Given the description of an element on the screen output the (x, y) to click on. 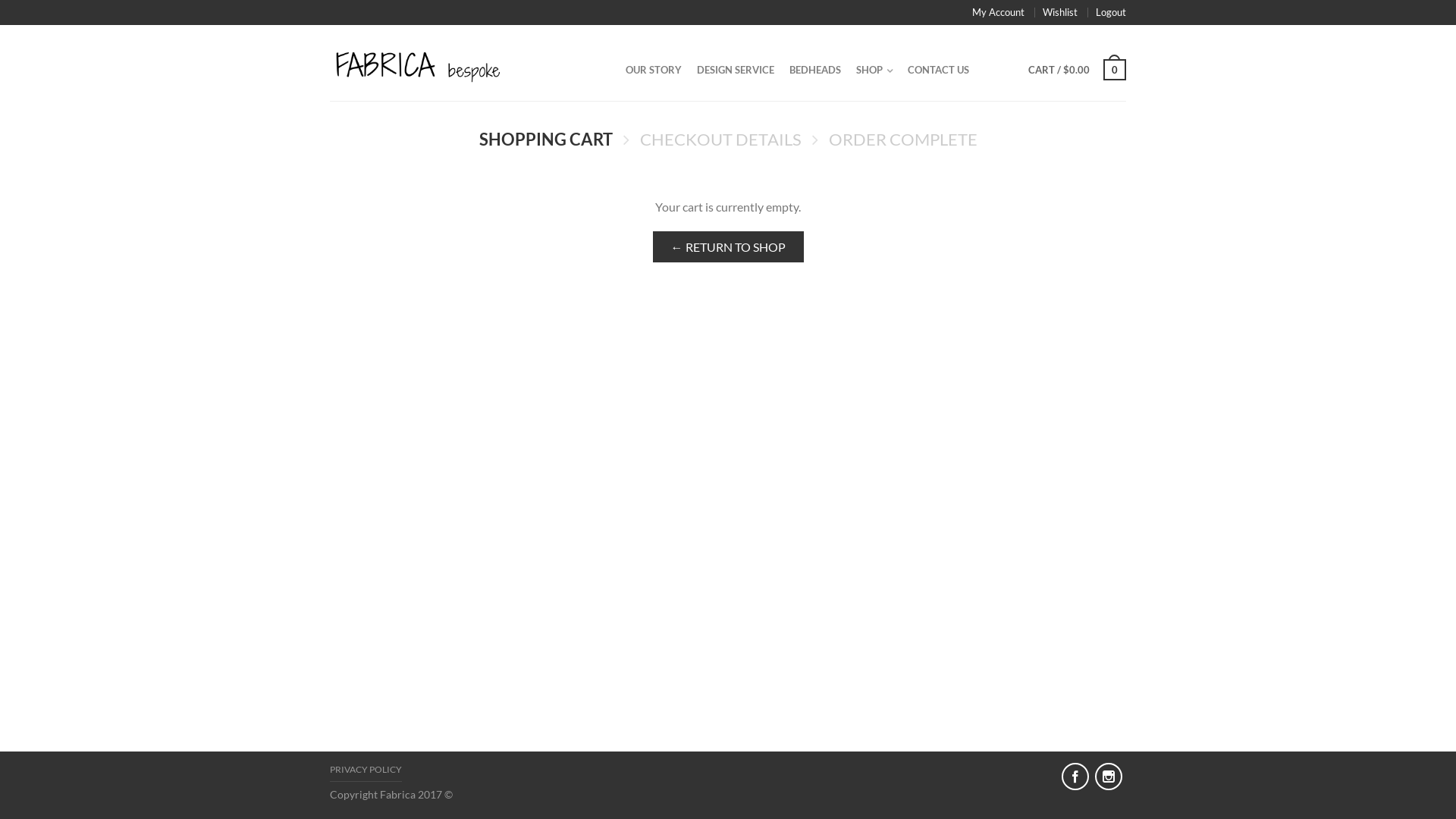
CART / $0.00 0 Element type: text (1077, 69)
PRIVACY POLICY Element type: text (365, 771)
DESIGN SERVICE Element type: text (735, 69)
My Account Element type: text (998, 12)
SHOP Element type: text (874, 69)
Wishlist Element type: text (1059, 12)
Logout Element type: text (1110, 12)
Fabrica Bespoke -  Element type: hover (464, 60)
BEDHEADS Element type: text (814, 69)
CONTACT US Element type: text (938, 69)
OUR STORY Element type: text (653, 69)
